Given the description of an element on the screen output the (x, y) to click on. 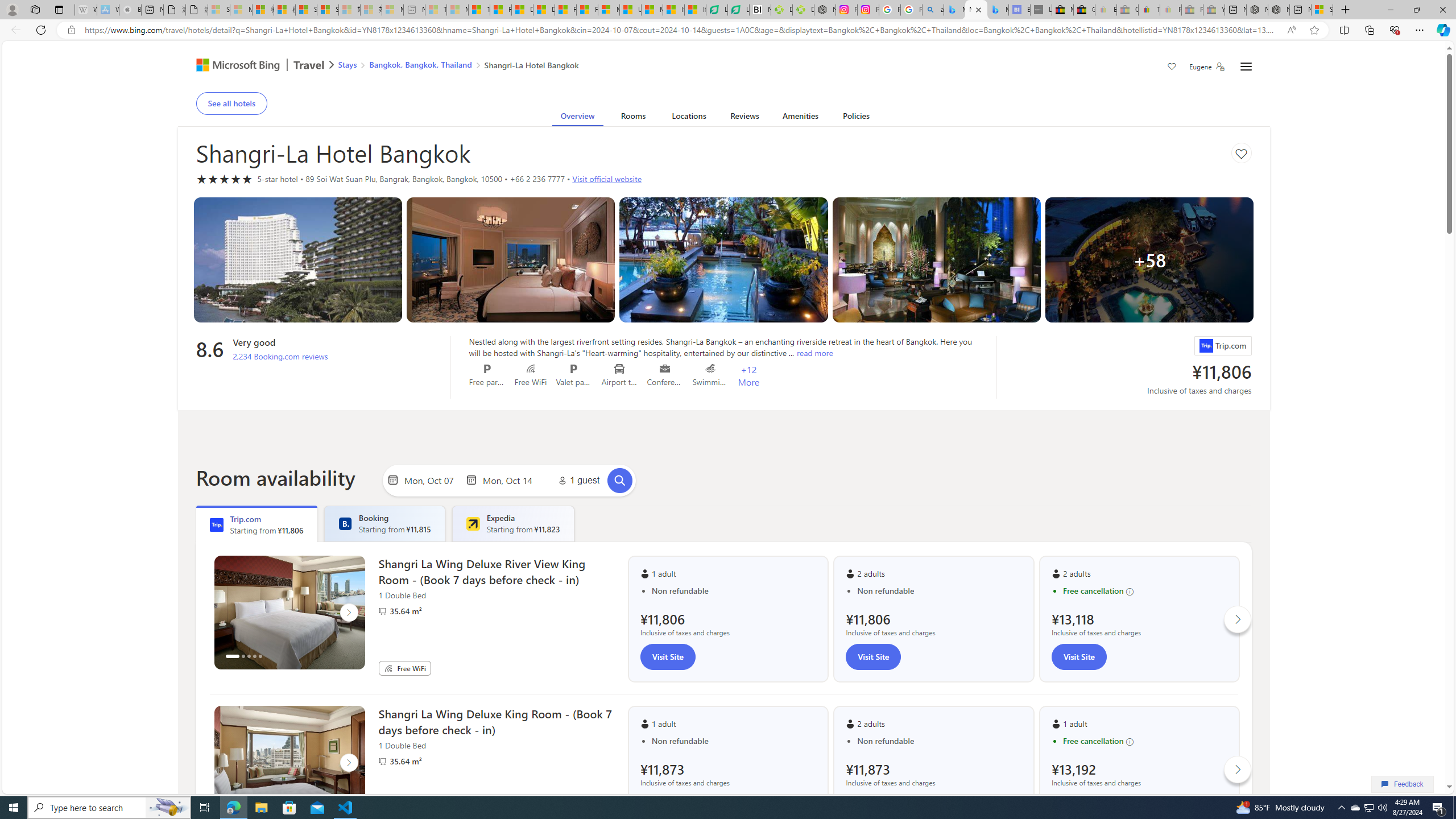
Press Room - eBay Inc. - Sleeping (1192, 9)
5-star hotel  (224, 179)
Top Stories - MSN - Sleeping (435, 9)
Start Date (431, 480)
Expedia (472, 523)
Policies (855, 118)
Drinking tea every day is proven to delay biological aging (543, 9)
Partner Image (381, 761)
Sign in to your Microsoft account - Sleeping (218, 9)
Airport transportation (619, 368)
Descarga Driver Updater (802, 9)
